Given the description of an element on the screen output the (x, y) to click on. 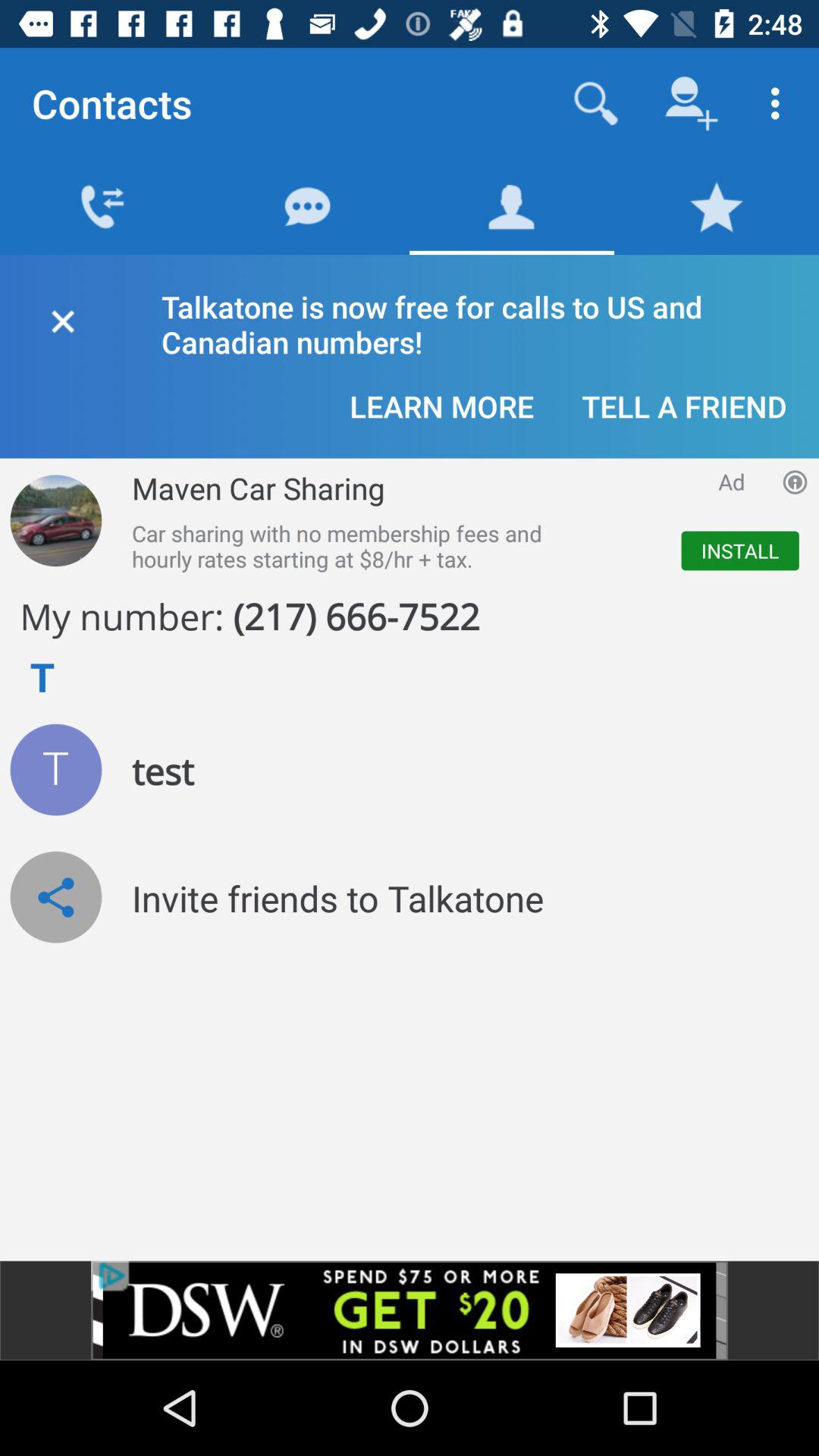
go to advertisement (55, 520)
